Given the description of an element on the screen output the (x, y) to click on. 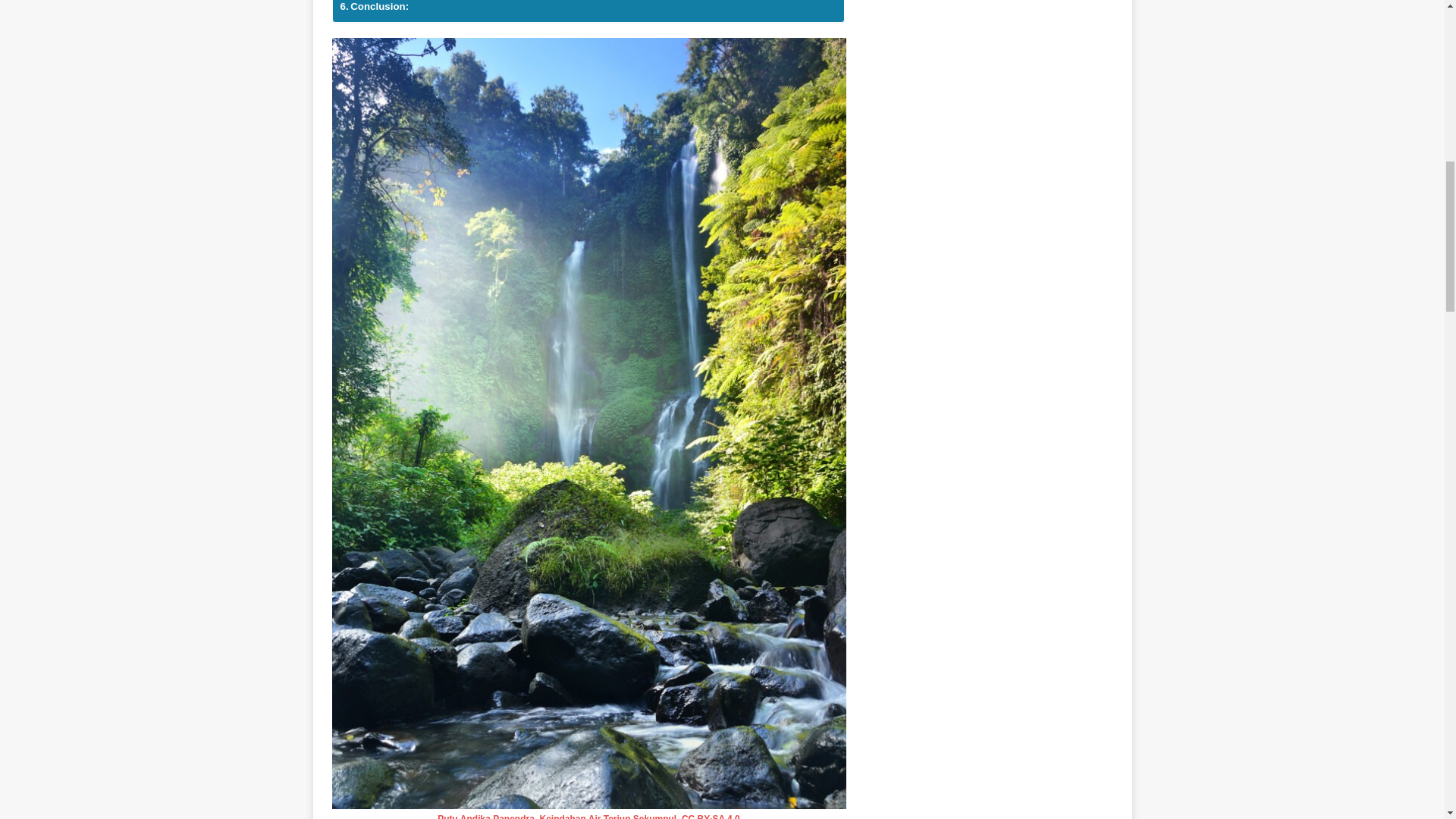
CC BY-SA 4.0 (710, 816)
Keindahan Air Terjun Sekumpul (608, 816)
Conclusion: (374, 7)
Putu Andika Panendra (486, 816)
